Given the description of an element on the screen output the (x, y) to click on. 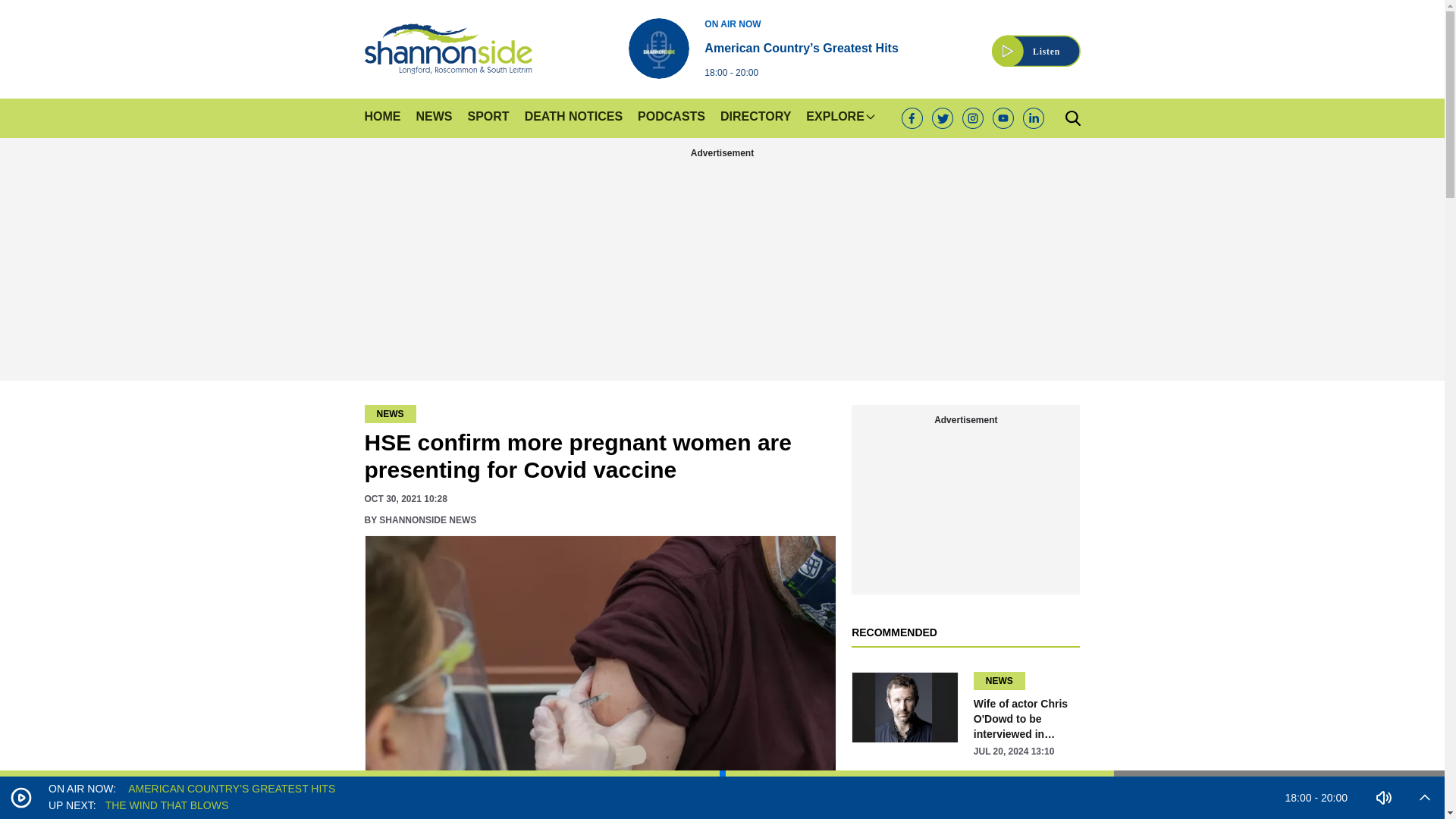
Listen (1035, 42)
PODCASTS (670, 118)
Shannonside.ie (447, 47)
DIRECTORY (755, 118)
Listen (1035, 42)
SPORT (487, 118)
NEWS (432, 118)
HOME (382, 118)
DEATH NOTICES (573, 118)
